Given the description of an element on the screen output the (x, y) to click on. 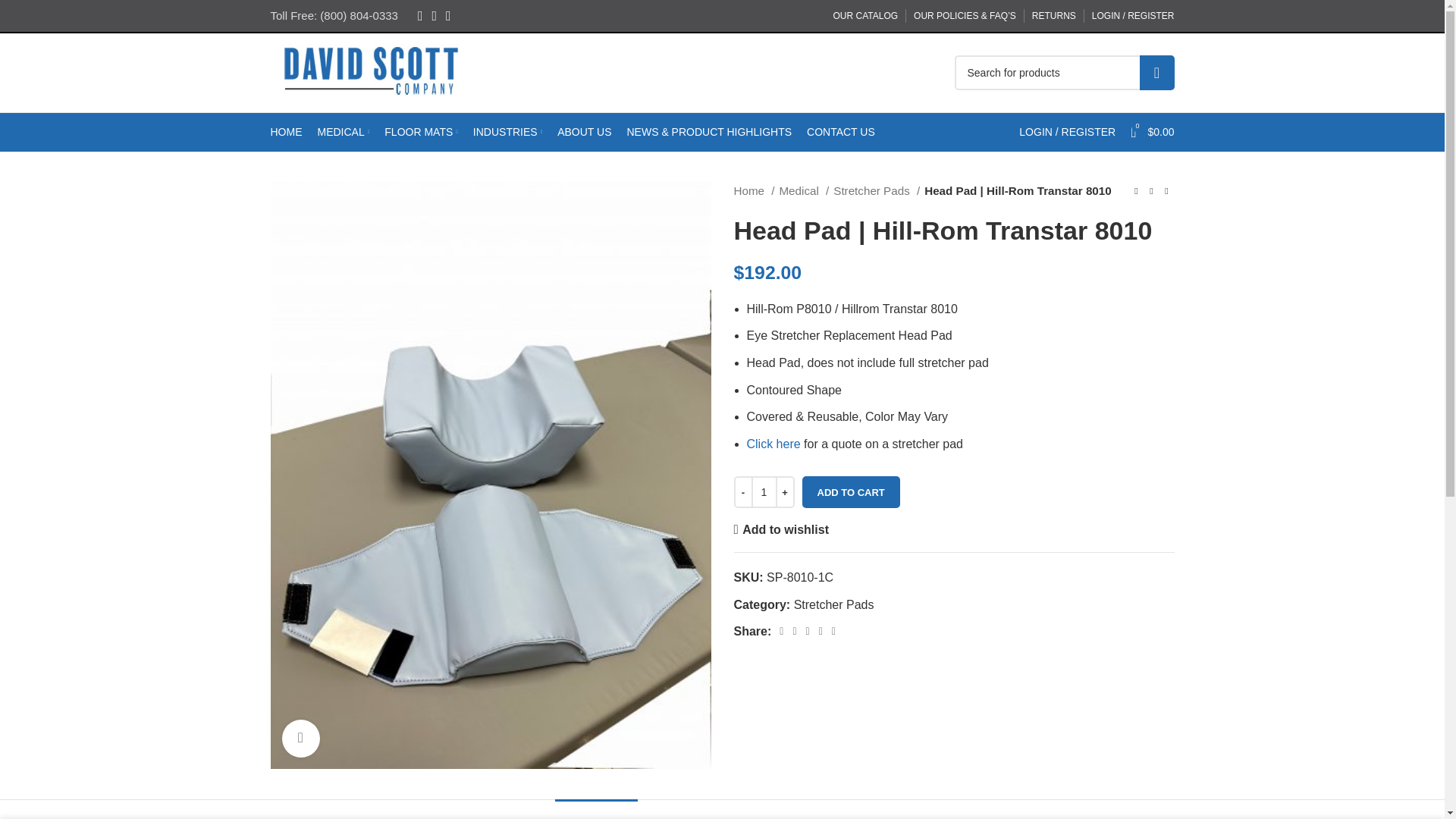
SEARCH (1155, 72)
Search for products (1063, 72)
Shopping cart (1151, 132)
My account (1066, 132)
MEDICAL (343, 132)
OUR CATALOG (865, 15)
RETURNS (1053, 15)
HOME (285, 132)
